Given the description of an element on the screen output the (x, y) to click on. 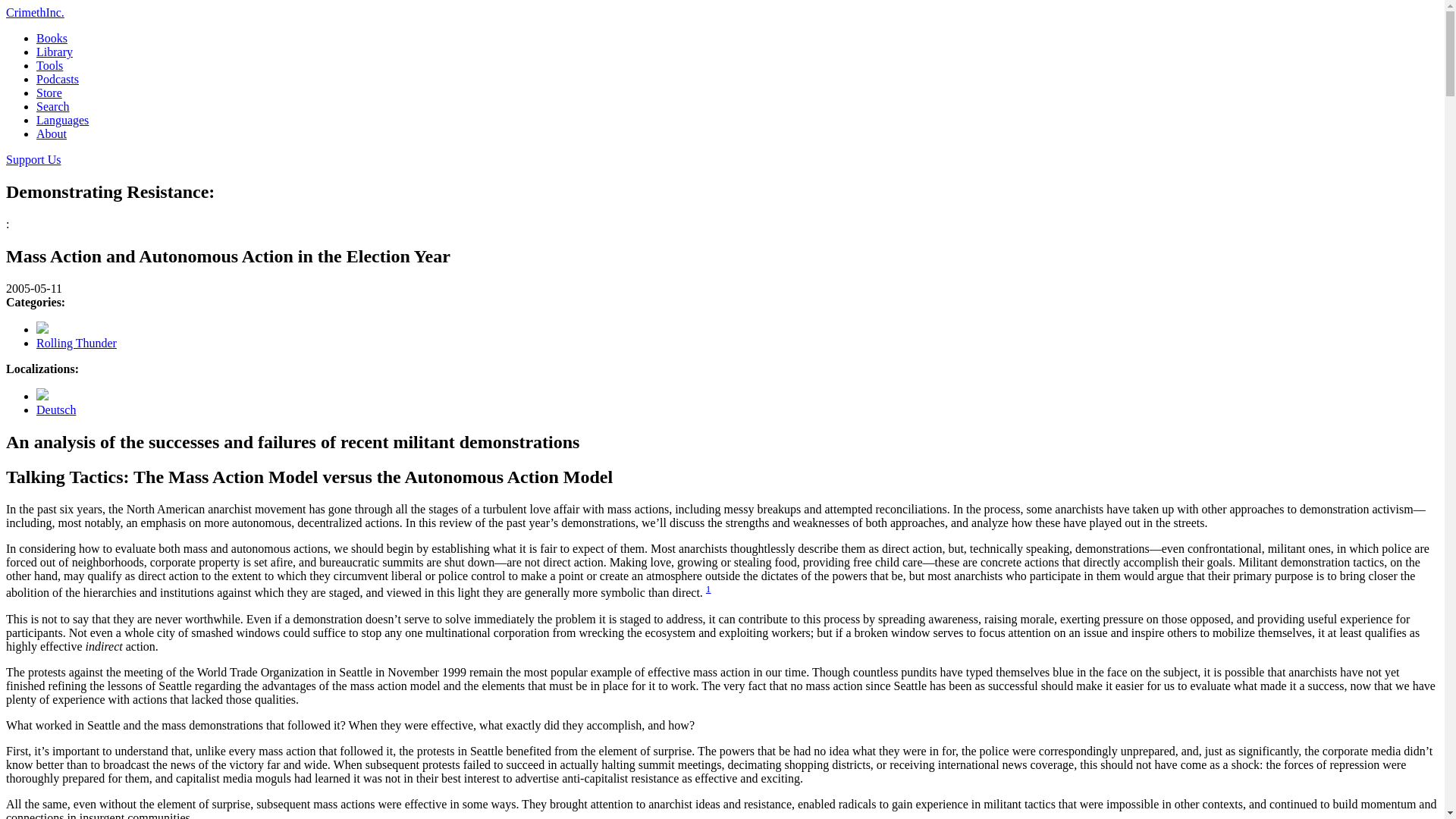
About (51, 133)
Languages (62, 119)
Support Us (33, 159)
Books (51, 38)
Deutsch (55, 409)
Tools (49, 65)
Podcasts (57, 78)
Search (52, 106)
1 (708, 588)
Rolling Thunder (76, 342)
Store (49, 92)
Library (54, 51)
CrimethInc. (34, 11)
